Given the description of an element on the screen output the (x, y) to click on. 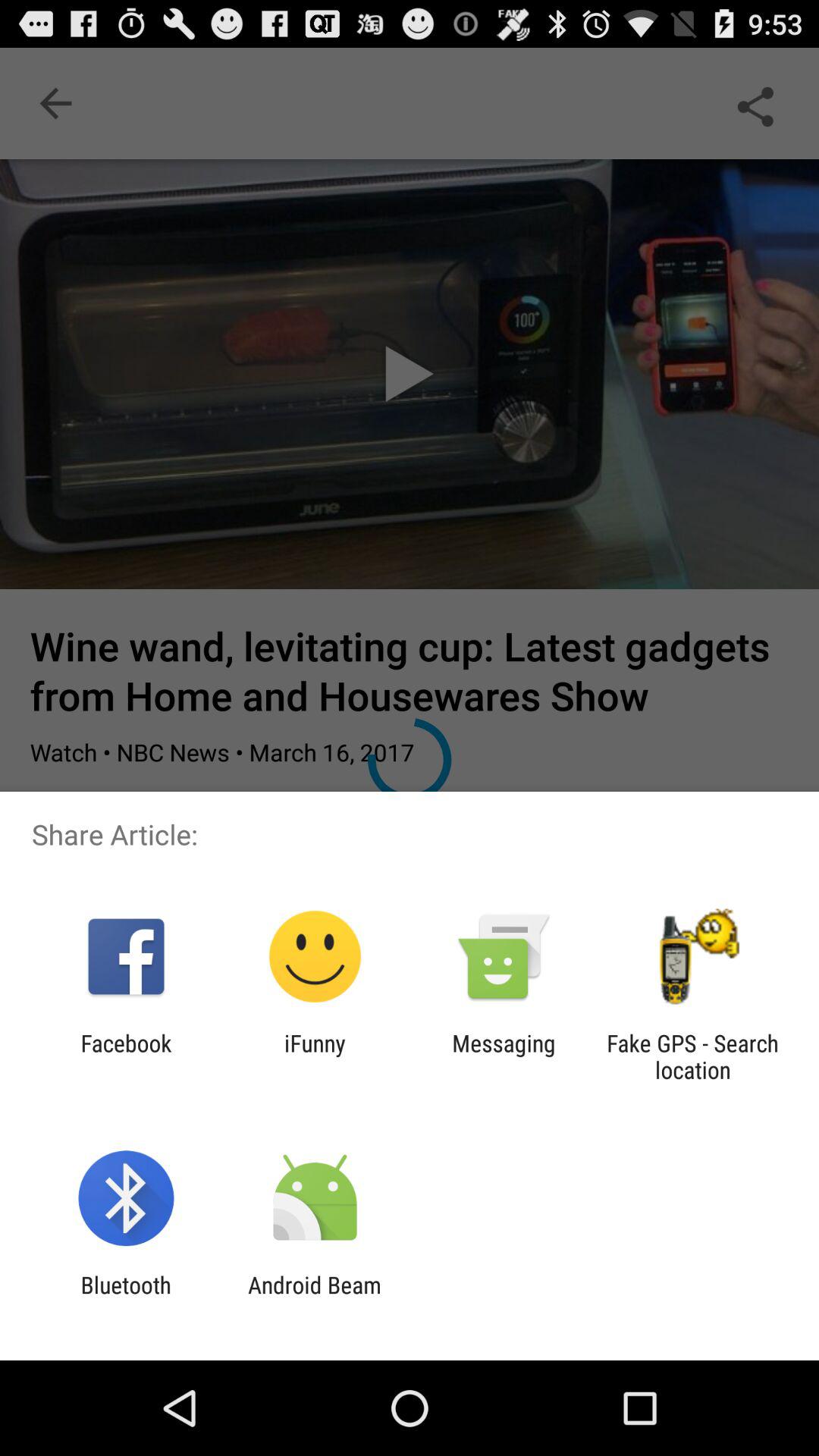
turn on facebook app (125, 1056)
